Given the description of an element on the screen output the (x, y) to click on. 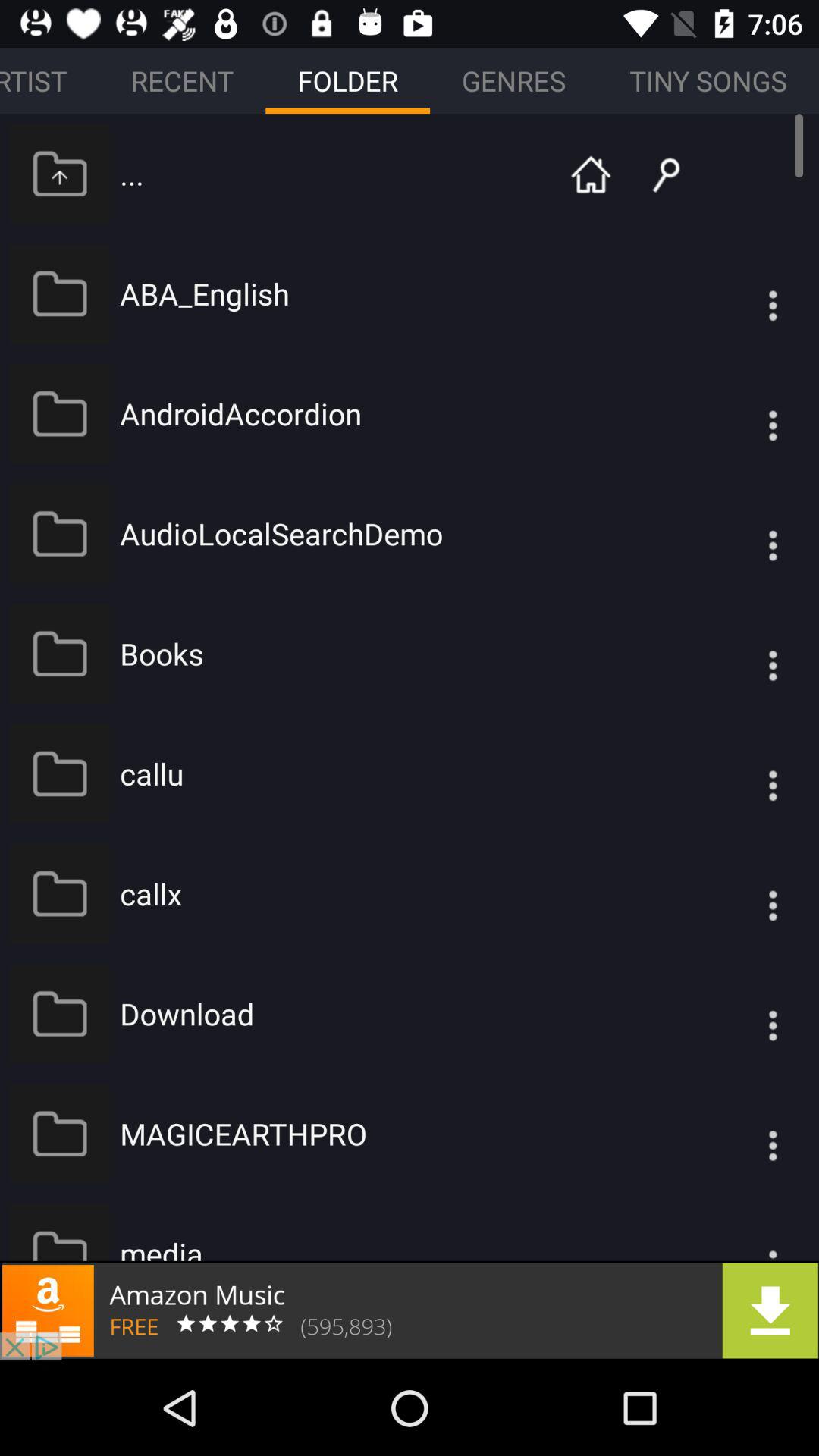
click on advertisement below (409, 1310)
